Given the description of an element on the screen output the (x, y) to click on. 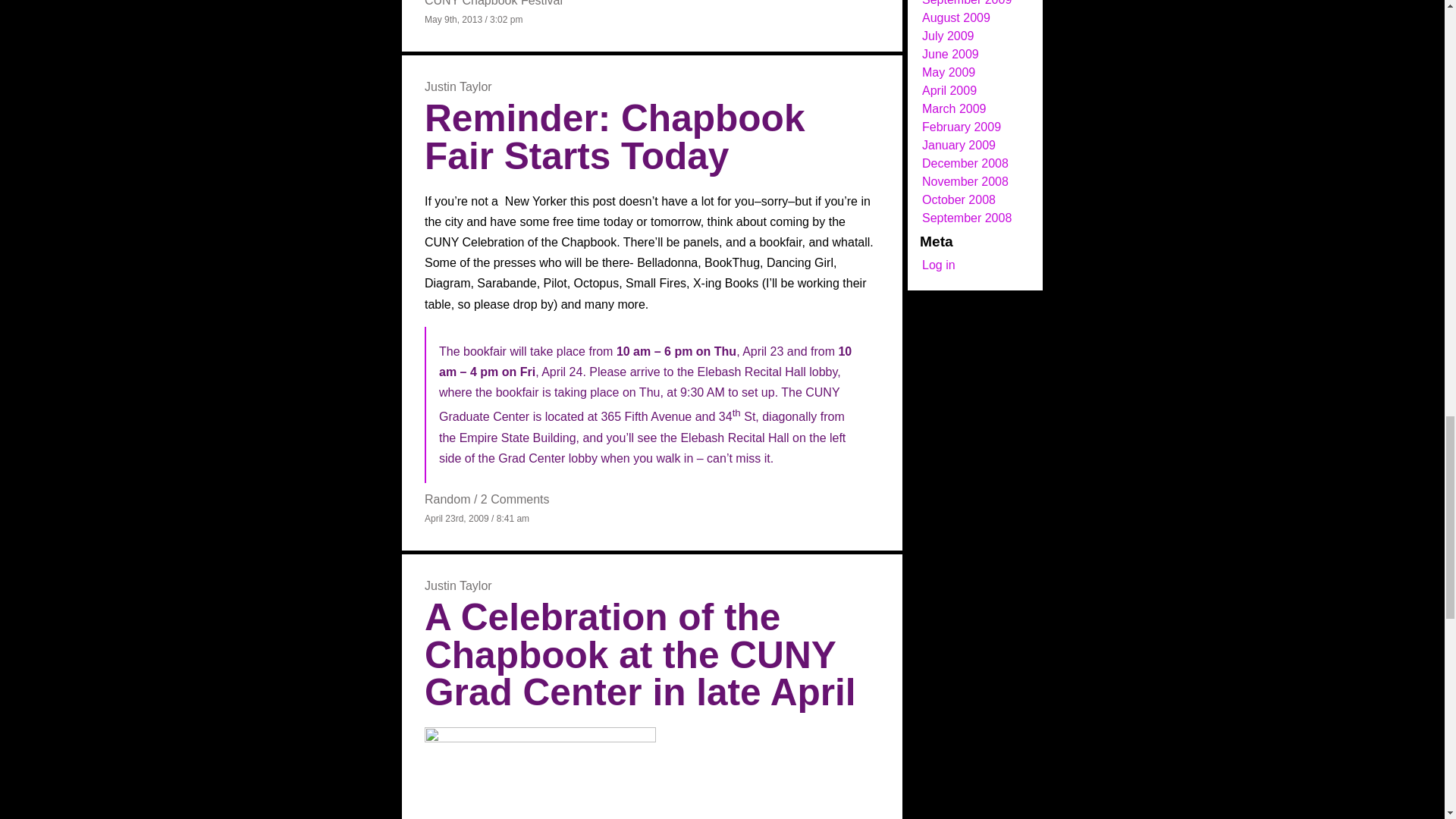
Justin Taylor (458, 585)
Posts by Justin Taylor (458, 585)
Reminder: Chapbook Fair Starts Today (615, 137)
Posts by Justin Taylor (458, 86)
Permanent Link to Reminder: Chapbook Fair Starts Today (615, 137)
2 Comments (515, 499)
Justin Taylor (458, 86)
Random (447, 499)
